Given the description of an element on the screen output the (x, y) to click on. 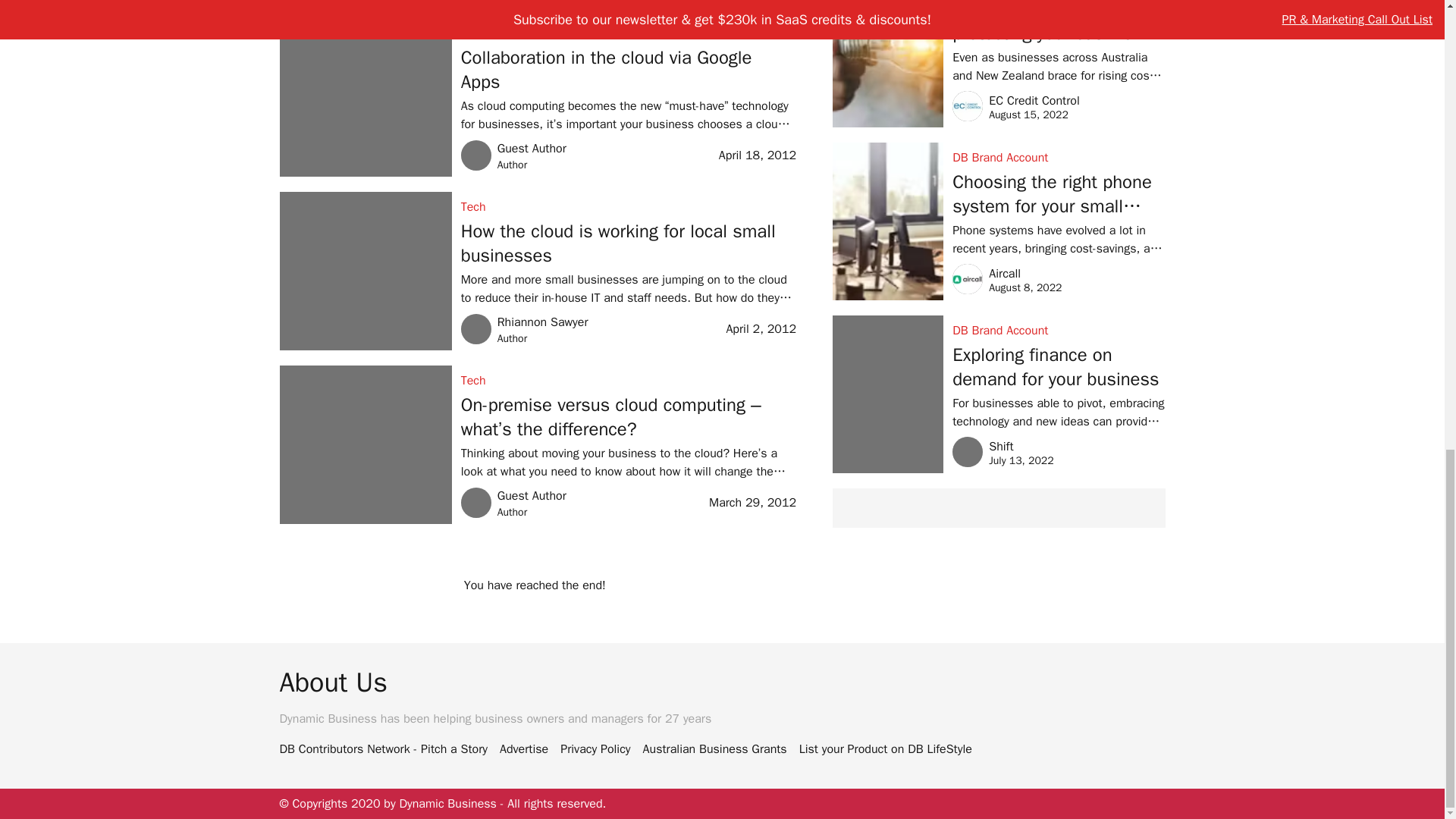
Collaboration in the cloud via Google Apps (628, 69)
Tech (628, 207)
Tech (628, 380)
Tech (628, 33)
How the cloud is working for local small businesses (628, 243)
